Given the description of an element on the screen output the (x, y) to click on. 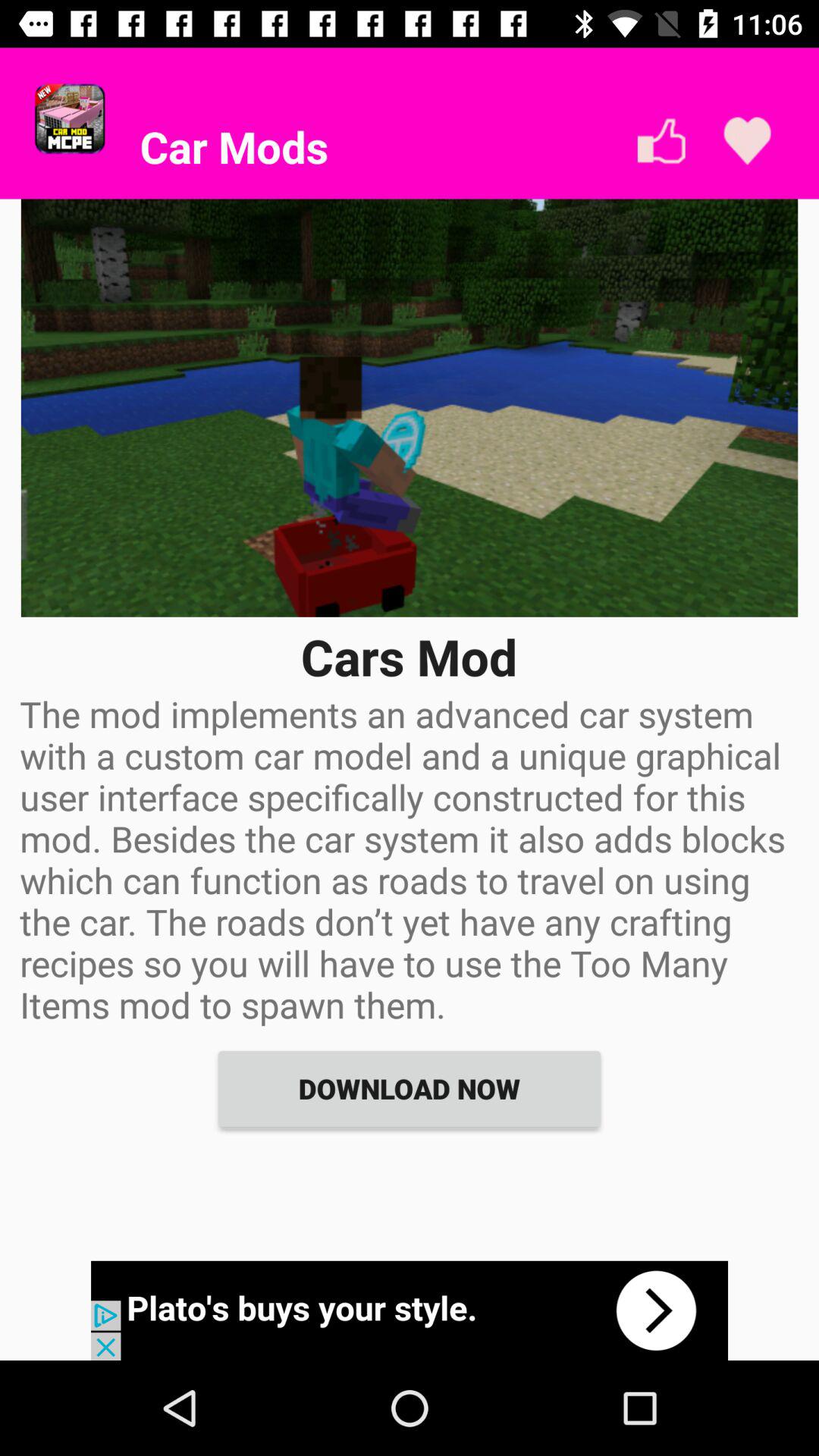
heart botton (747, 140)
